Given the description of an element on the screen output the (x, y) to click on. 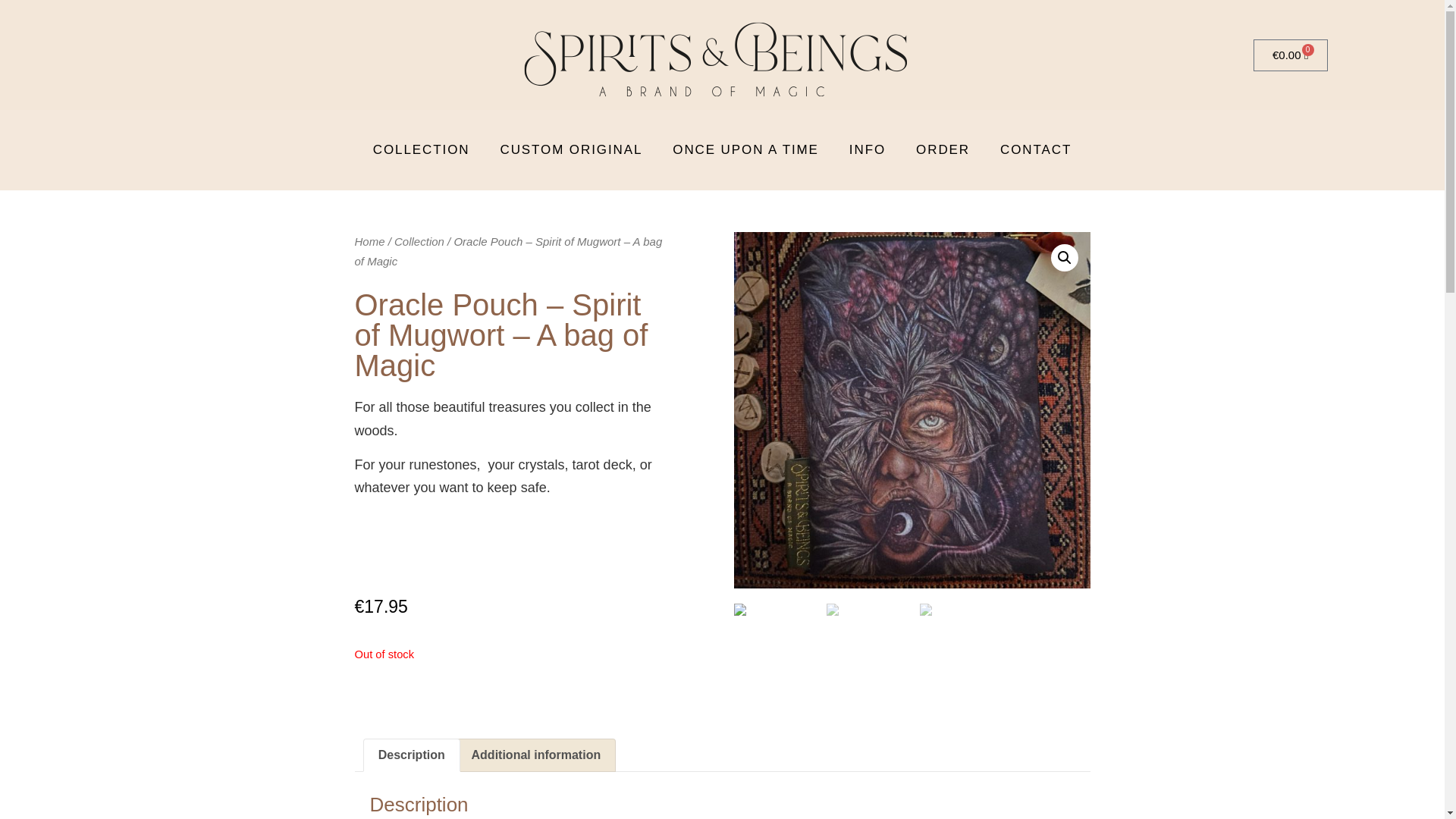
ORDER (943, 149)
ONCE UPON A TIME (746, 149)
CUSTOM ORIGINAL (571, 149)
COLLECTION (421, 149)
INFO (867, 149)
CONTACT (1035, 149)
